Given the description of an element on the screen output the (x, y) to click on. 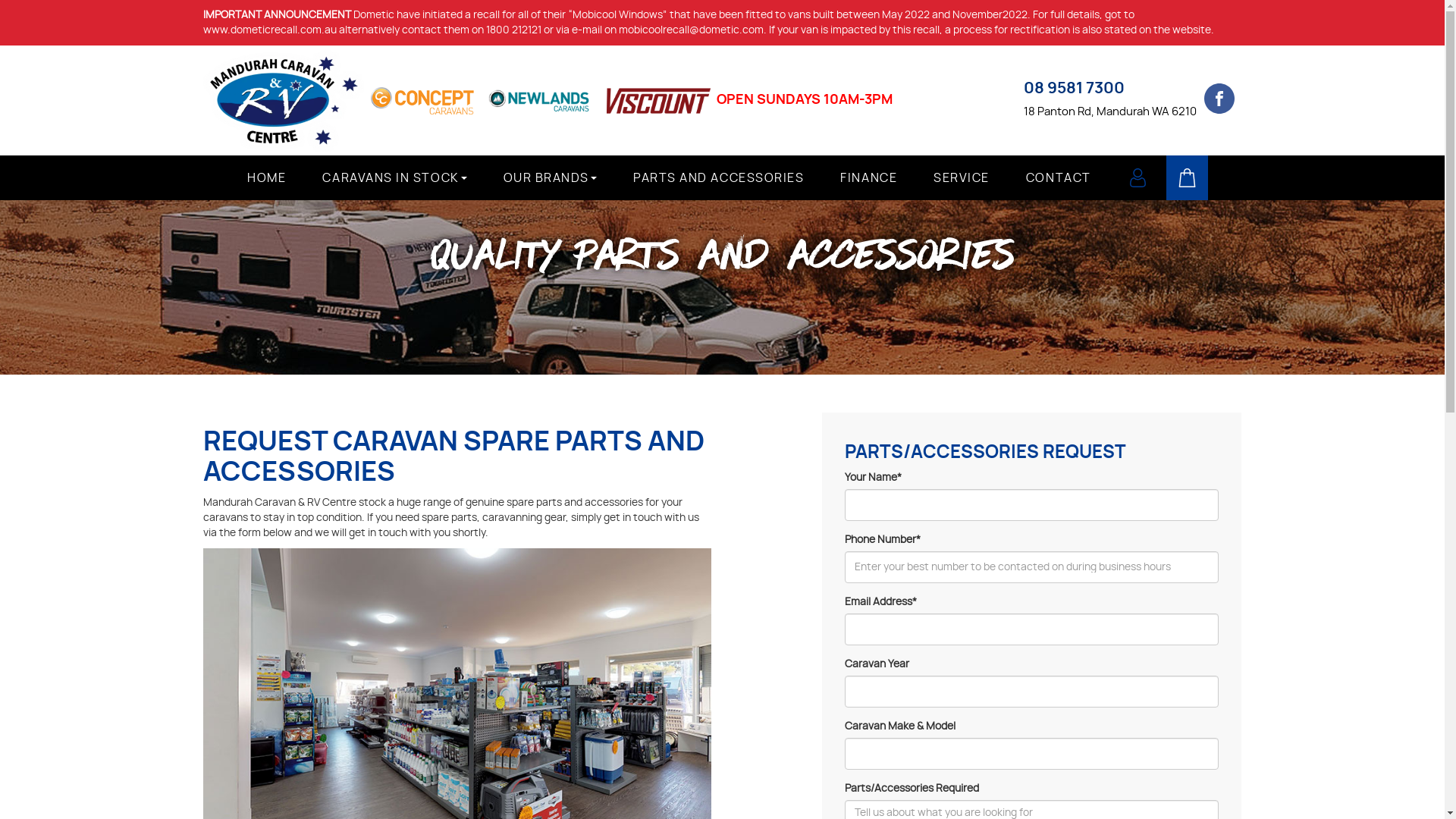
CONTACT Element type: text (1058, 178)
SERVICE Element type: text (961, 178)
18 Panton Rd, Mandurah WA 6210 Element type: text (1109, 110)
www.dometicrecall.com.au Element type: text (269, 30)
PARTS AND ACCESSORIES Element type: text (718, 178)
OUR BRANDS Element type: text (550, 178)
FINANCE Element type: text (868, 178)
HOME Element type: text (266, 178)
08 9581 7300 Element type: text (1073, 87)
CARAVANS IN STOCK Element type: text (394, 178)
mobicoolrecall@dometic.com Element type: text (690, 30)
